Given the description of an element on the screen output the (x, y) to click on. 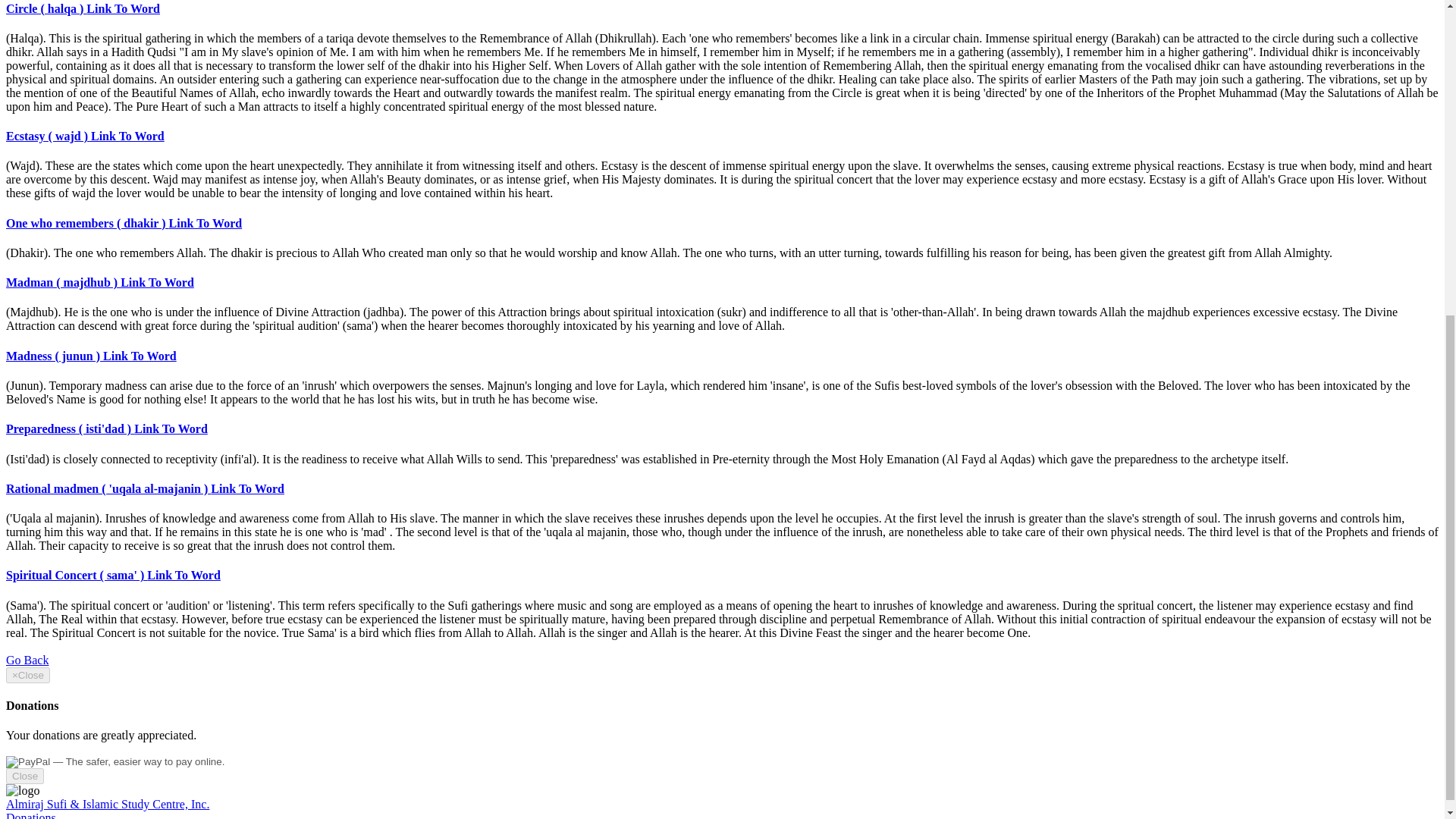
Link To Word (205, 223)
Link To Word (170, 428)
Link To Word (139, 355)
Link To Word (127, 135)
Link To Word (247, 488)
Link To Word (122, 8)
Close (24, 775)
Go Back (26, 659)
Link To Word (184, 574)
Link To Word (156, 282)
